Given the description of an element on the screen output the (x, y) to click on. 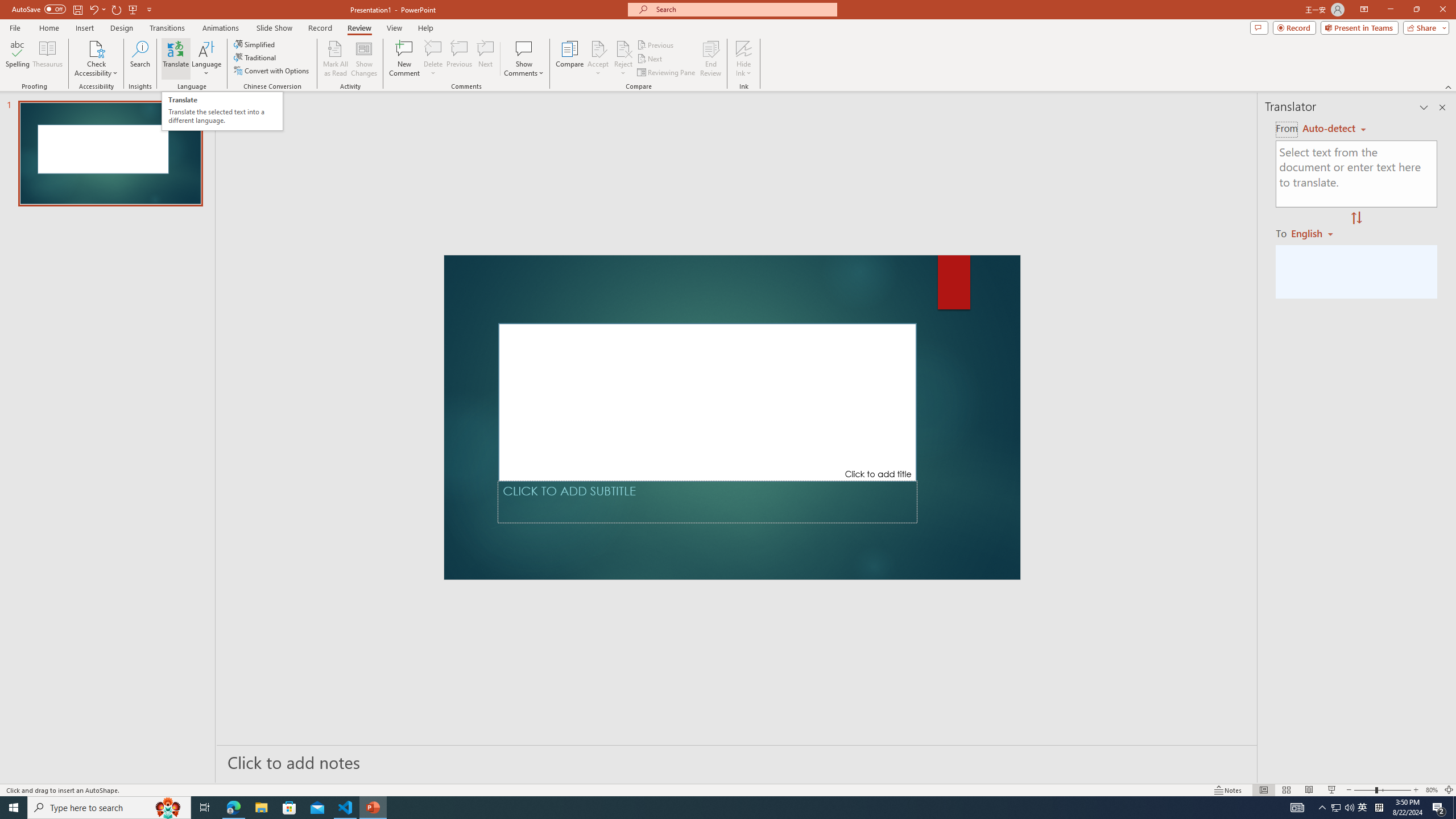
Show Comments (524, 58)
Traditional (255, 56)
End Review (710, 58)
Spelling... (17, 58)
Next (649, 58)
Previous (655, 44)
